Given the description of an element on the screen output the (x, y) to click on. 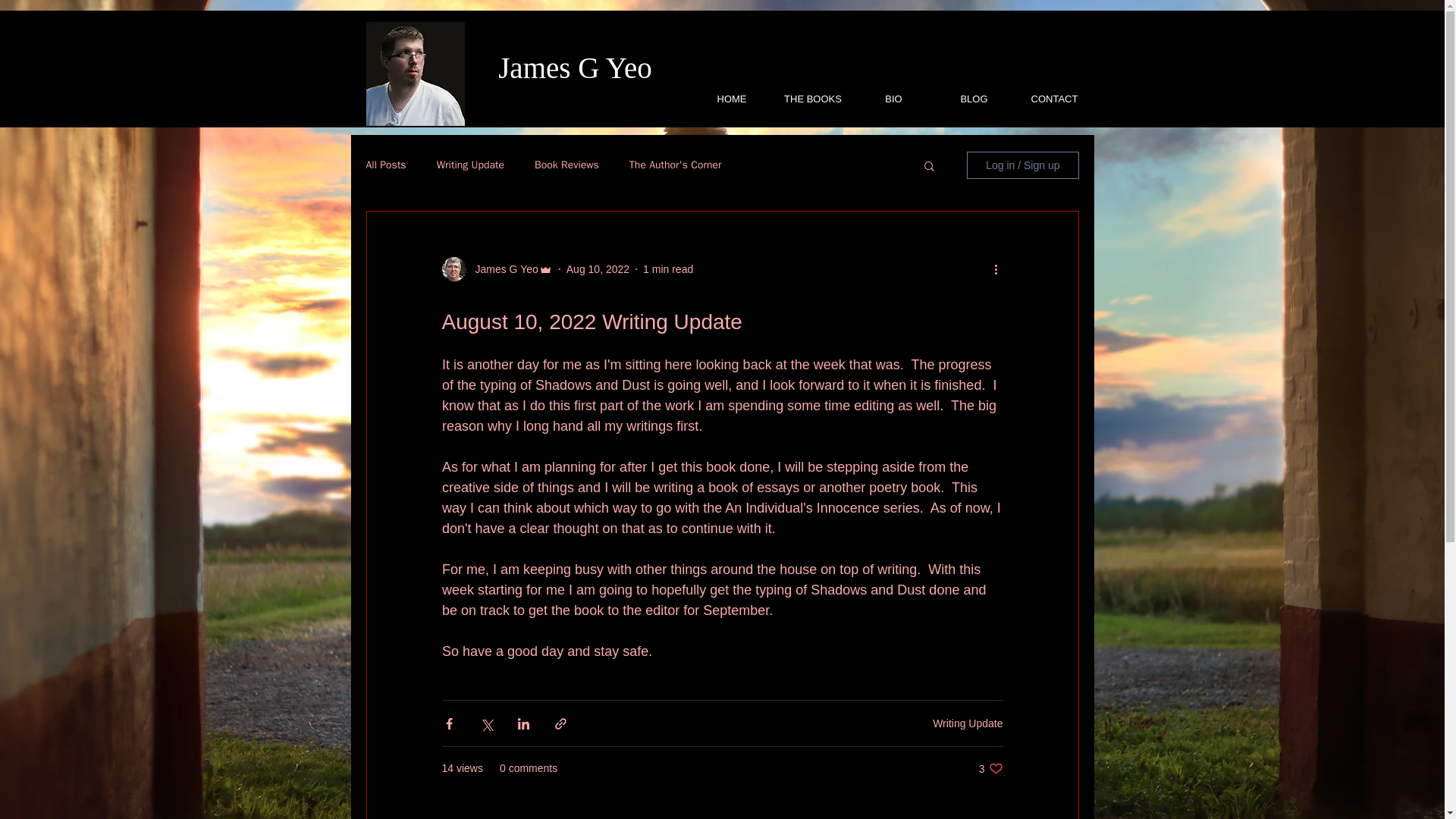
Book Reviews (566, 164)
CONTACT (1054, 98)
HOME (732, 98)
James G Yeo (501, 268)
BIO (893, 98)
BLOG (974, 98)
The Author's Corner (990, 768)
Aug 10, 2022 (675, 164)
THE BOOKS (597, 268)
